Given the description of an element on the screen output the (x, y) to click on. 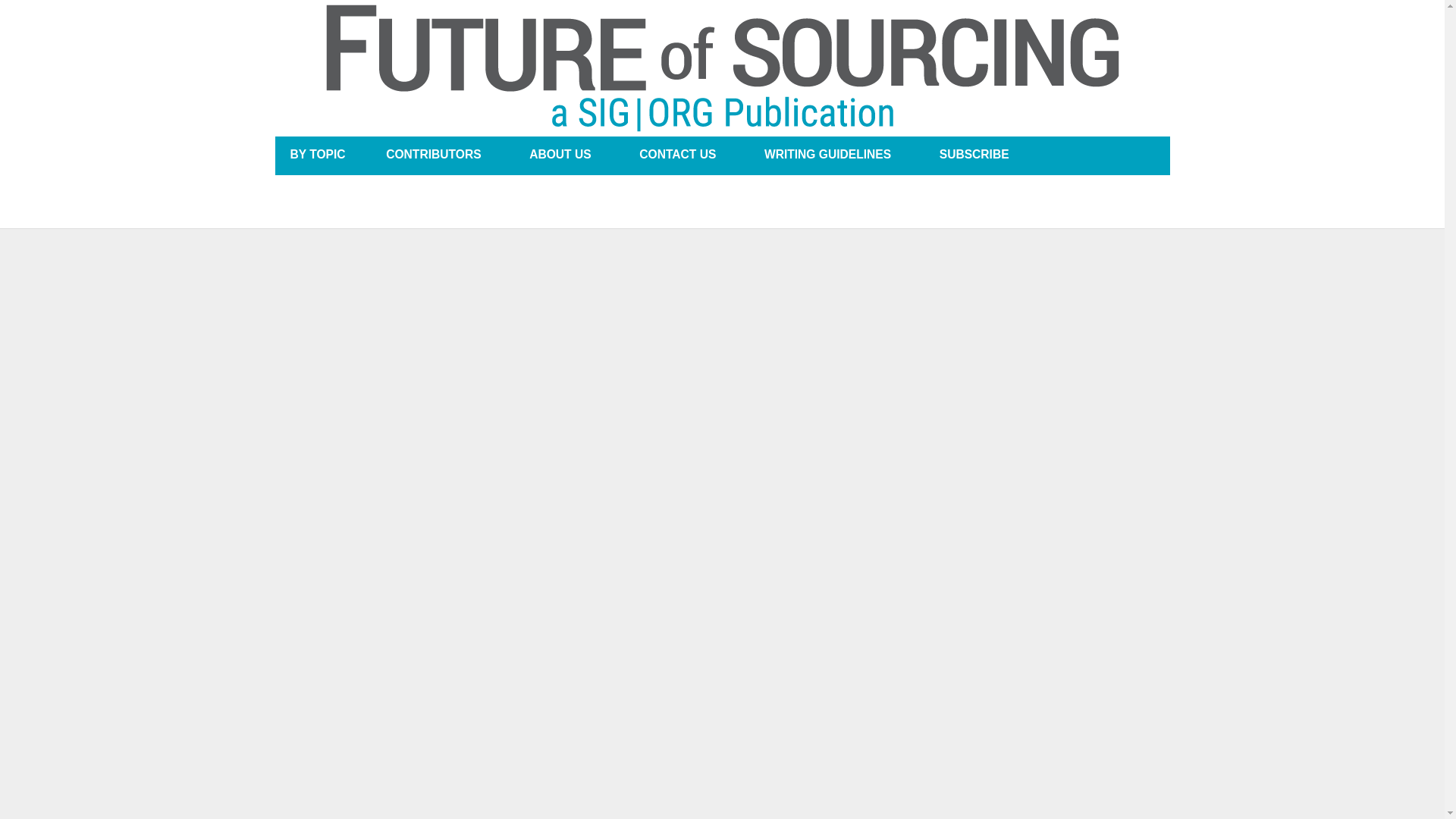
ABOUT US (559, 154)
CONTACT US (676, 154)
Skip to main content (677, 1)
Find out how to contribute to Future of Sourcing. (827, 154)
WRITING GUIDELINES (827, 154)
SUBSCRIBE (974, 154)
SEARCH (1140, 154)
CONTRIBUTORS (432, 154)
